Given the description of an element on the screen output the (x, y) to click on. 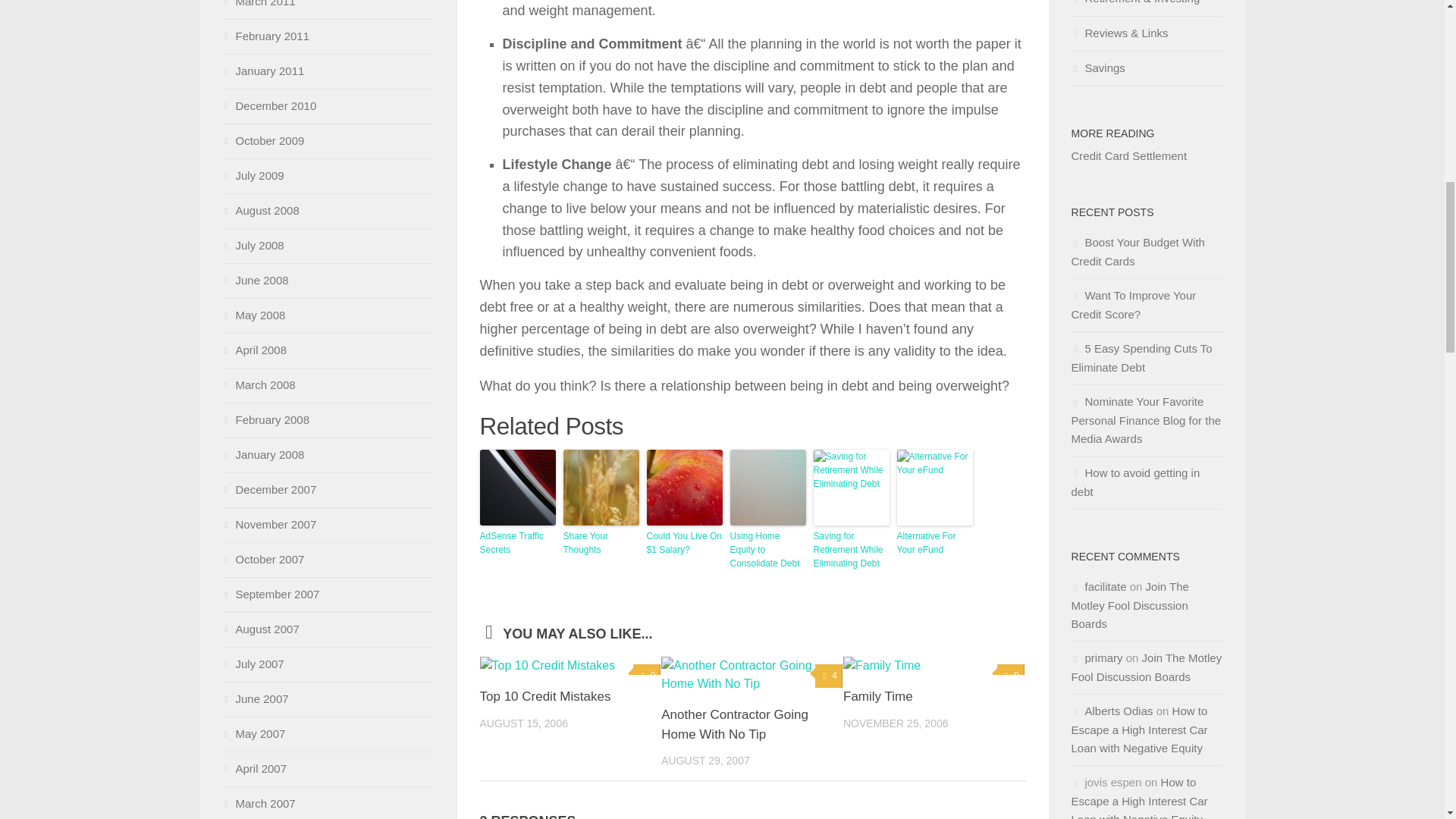
AdSense Traffic Secrets (516, 542)
Top 10 Credit Mistakes (544, 696)
Permalink to Top 10 Credit Mistakes (544, 696)
Family Time (877, 696)
0 (647, 675)
Share Your Thoughts (600, 542)
Permalink to Another Contractor Going Home With No Tip (734, 724)
Alternative For Your eFund (934, 542)
credit card settlement (1128, 155)
Using Home Equity to Consolidate Debt (767, 549)
Saving for Retirement While Eliminating Debt (850, 549)
0 (1011, 675)
Another Contractor Going Home With No Tip (734, 724)
4 (829, 675)
Permalink to Family Time (877, 696)
